Given the description of an element on the screen output the (x, y) to click on. 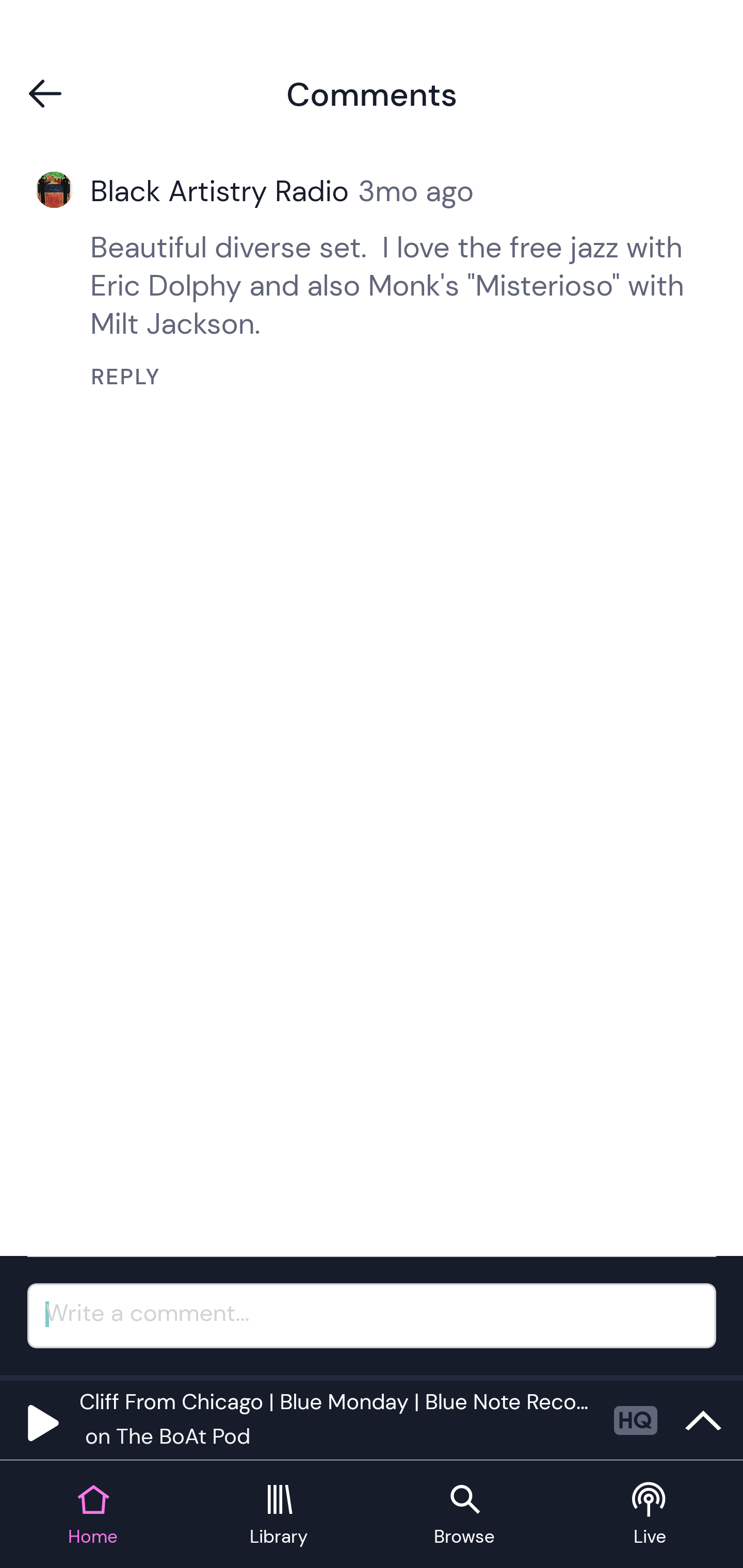
Black Artistry Radio (224, 191)
REPLY (389, 376)
Write a comment... (371, 1315)
Home tab Home (92, 1515)
Library tab Library (278, 1515)
Browse tab Browse (464, 1515)
Live tab Live (650, 1515)
